Given the description of an element on the screen output the (x, y) to click on. 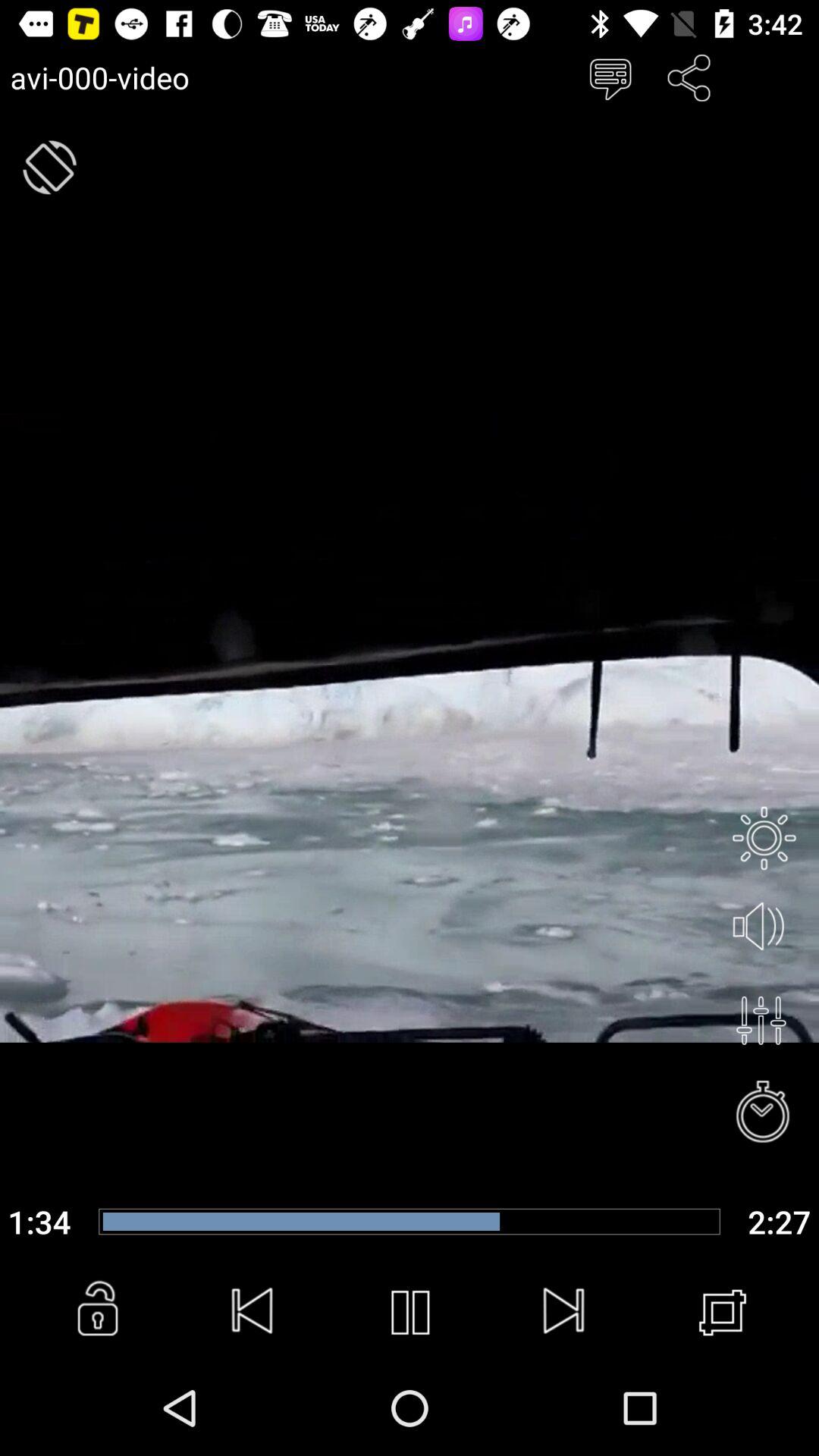
share button (689, 77)
